Given the description of an element on the screen output the (x, y) to click on. 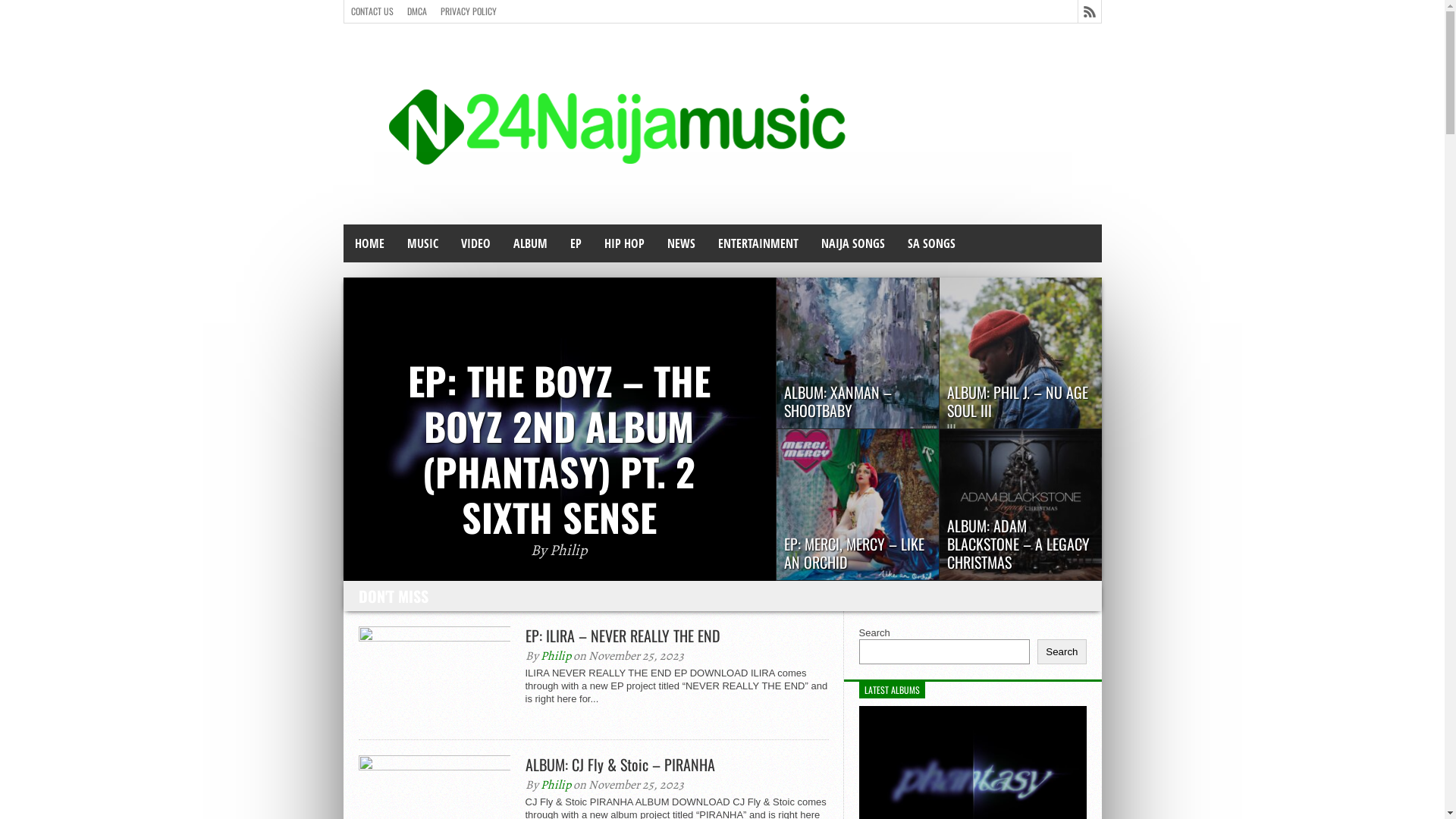
CONTACT US Element type: text (372, 11)
ENTERTAINMENT Element type: text (757, 243)
MUSIC Element type: text (422, 243)
Search Element type: text (1061, 651)
DMCA Element type: text (416, 11)
Philip Element type: text (554, 655)
HIP HOP Element type: text (624, 243)
ALBUM Element type: text (530, 243)
Philip Element type: text (554, 784)
SA SONGS Element type: text (931, 243)
NAIJA SONGS Element type: text (852, 243)
NEWS Element type: text (680, 243)
HOME Element type: text (368, 243)
VIDEO Element type: text (474, 243)
EP Element type: text (575, 243)
PRIVACY POLICY Element type: text (468, 11)
